Given the description of an element on the screen output the (x, y) to click on. 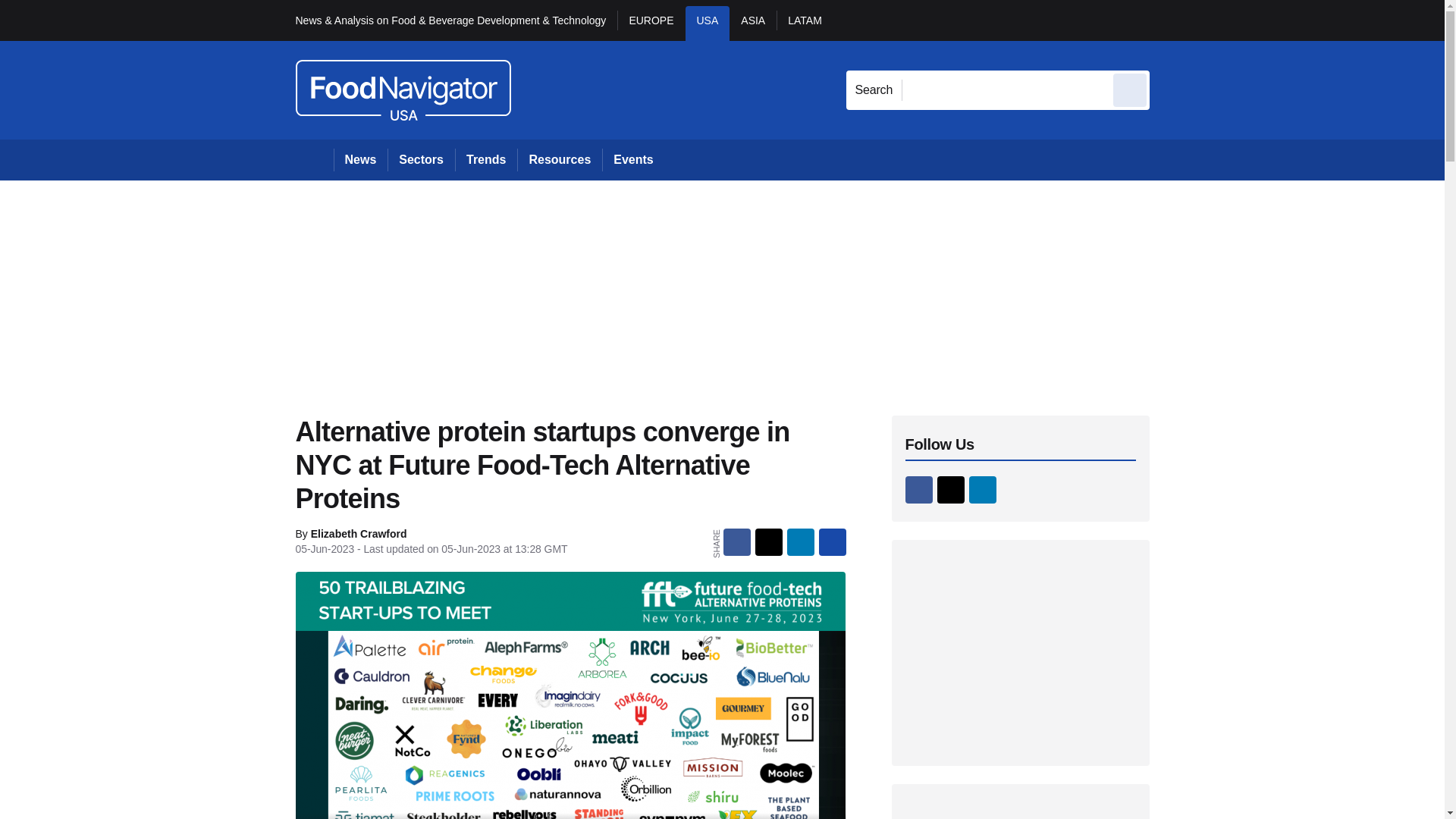
LATAM (804, 22)
3rd party ad content (1020, 652)
Sign in (1171, 20)
Send (1129, 89)
FoodNavigator USA (403, 89)
ASIA (752, 22)
Home (313, 159)
USA (707, 22)
Sign out (1174, 20)
